Given the description of an element on the screen output the (x, y) to click on. 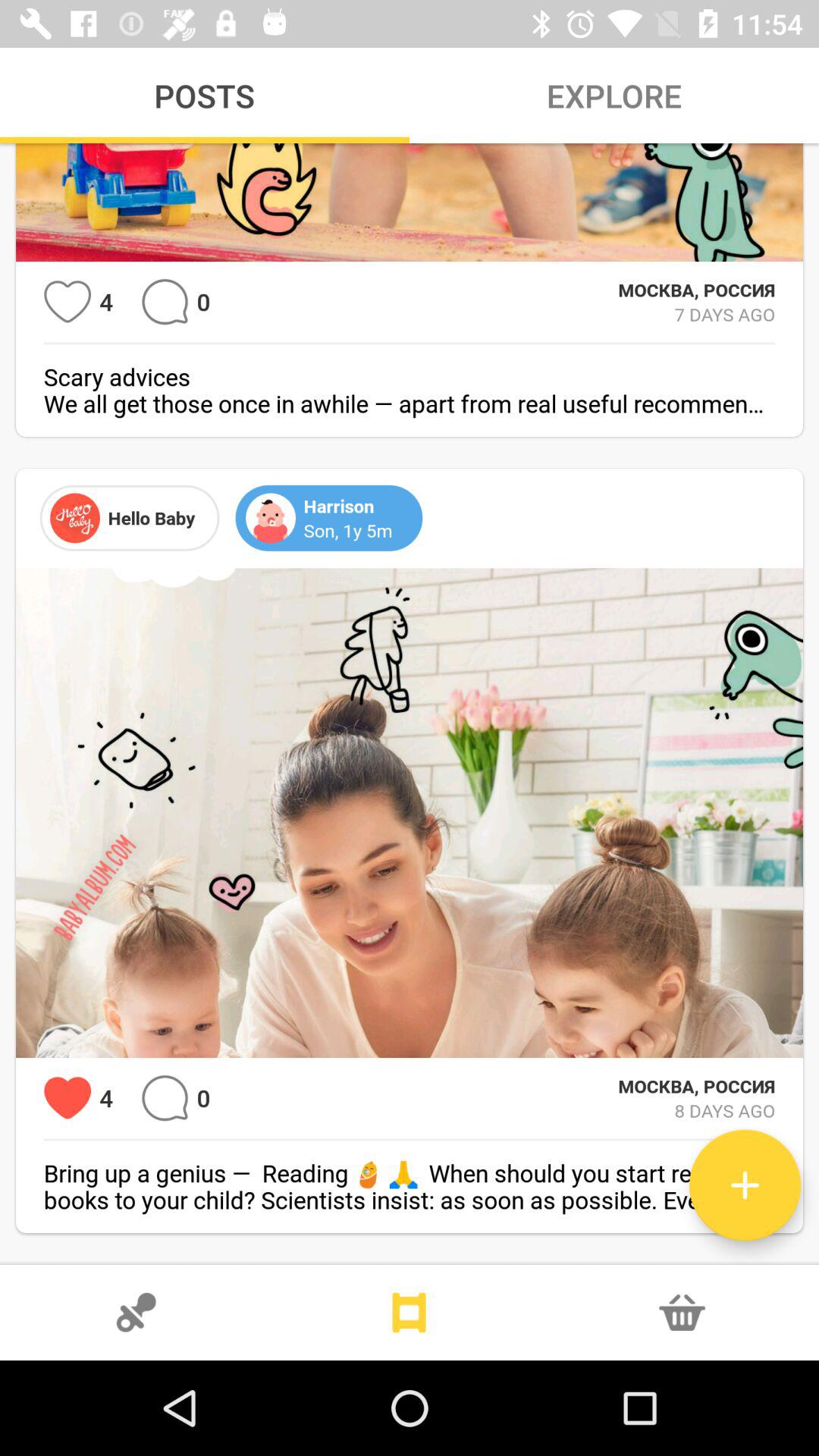
go to the cart (682, 1312)
